Given the description of an element on the screen output the (x, y) to click on. 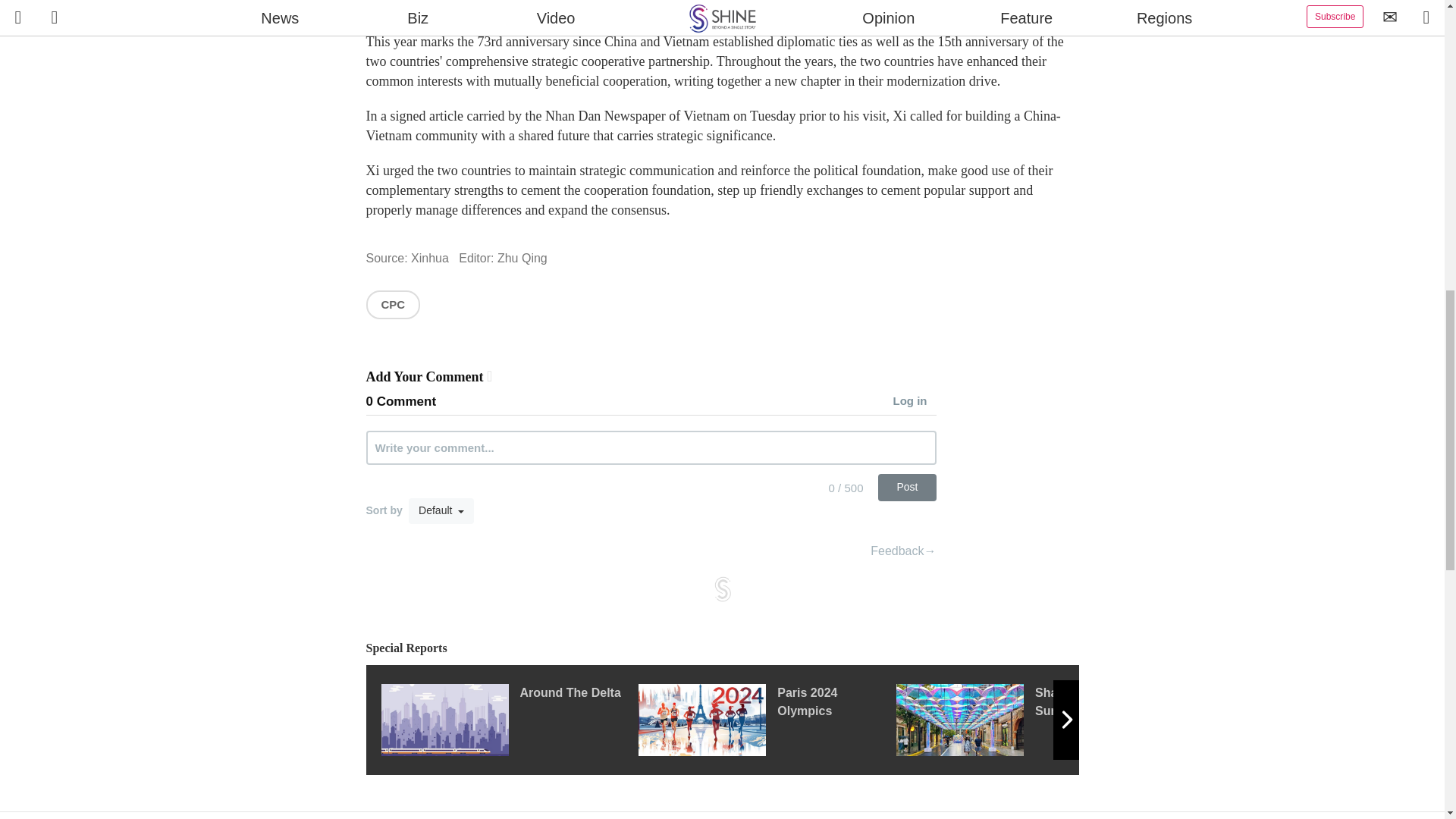
Log in (914, 401)
Paris 2024 Olympics (767, 719)
Special Reports (721, 648)
CPC (392, 304)
Around The Delta (508, 719)
Shanghai Summer (1024, 719)
Default   (441, 510)
